Given the description of an element on the screen output the (x, y) to click on. 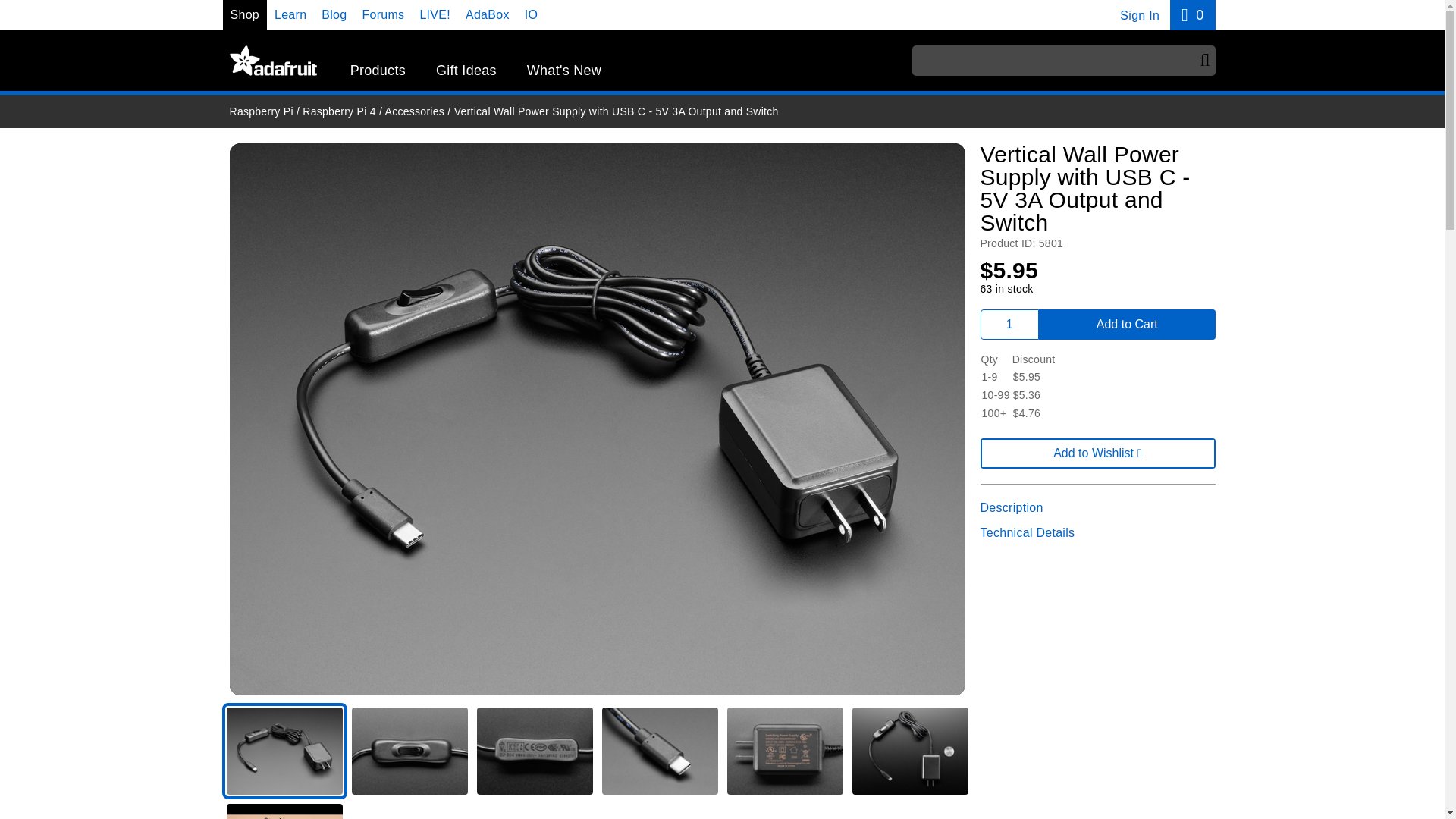
AdaBox (487, 14)
Sign In (1138, 15)
Shop (245, 14)
1 (1009, 324)
Forums (1192, 14)
Products (382, 14)
Blog (378, 71)
IO (333, 14)
Adafruit (530, 14)
LIVE! (271, 60)
Learn (434, 14)
